Given the description of an element on the screen output the (x, y) to click on. 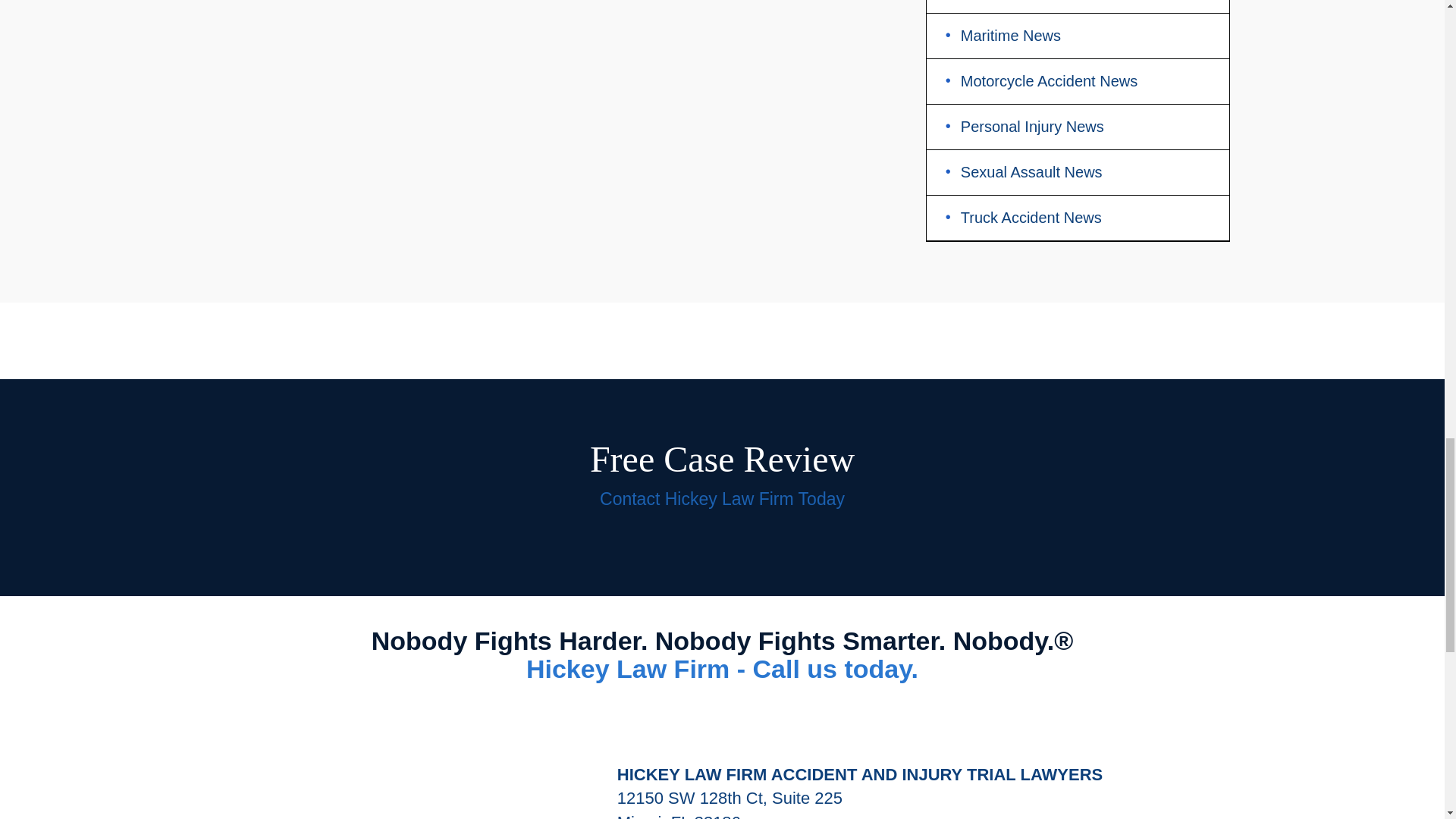
Hickey Law Firm (399, 766)
